Given the description of an element on the screen output the (x, y) to click on. 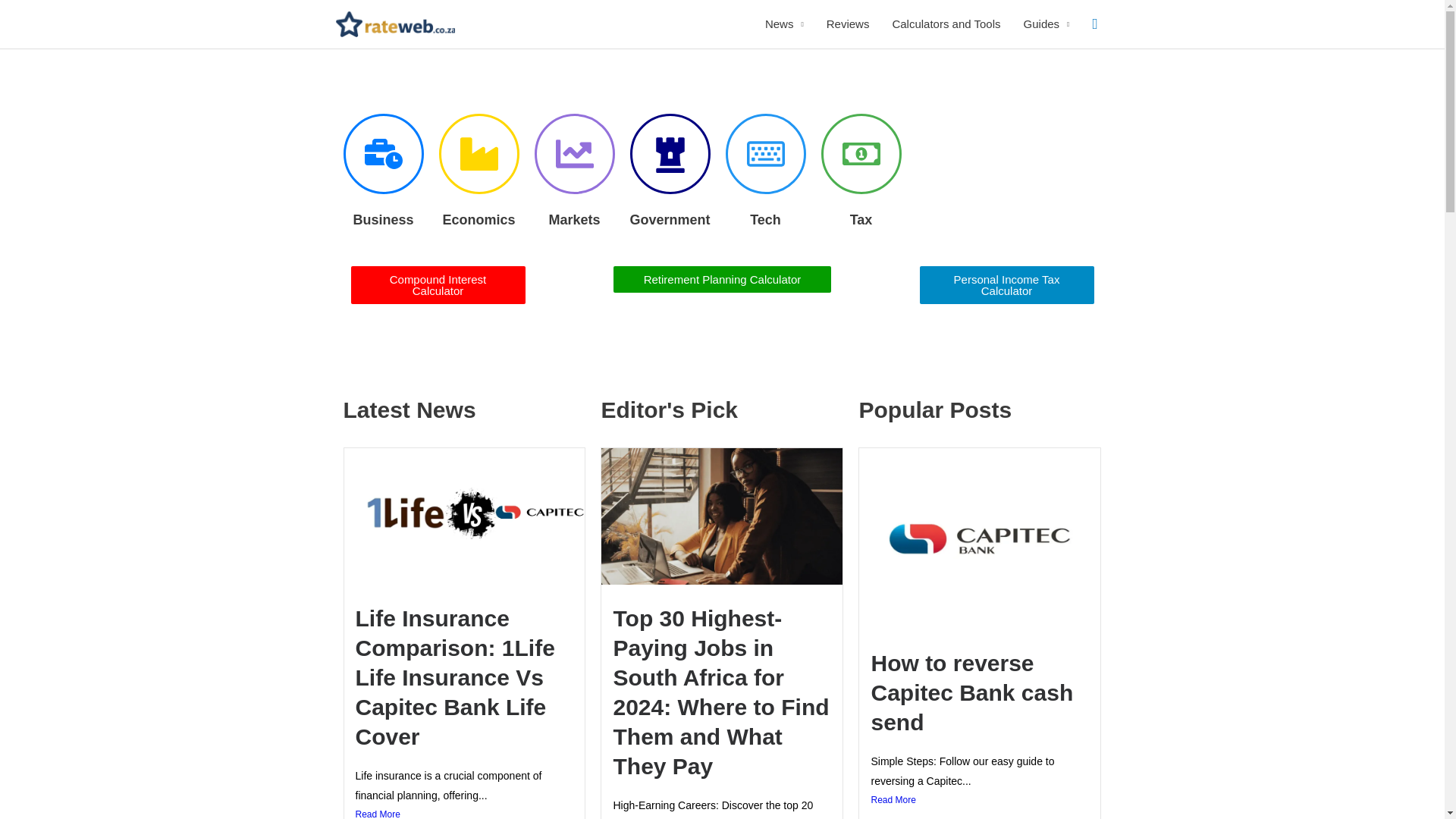
Retirement Planning Calculator (721, 279)
Tax (861, 219)
Reviews (847, 24)
Read More (464, 812)
Compound Interest Calculator (437, 284)
Tech (764, 219)
Business (382, 219)
